Given the description of an element on the screen output the (x, y) to click on. 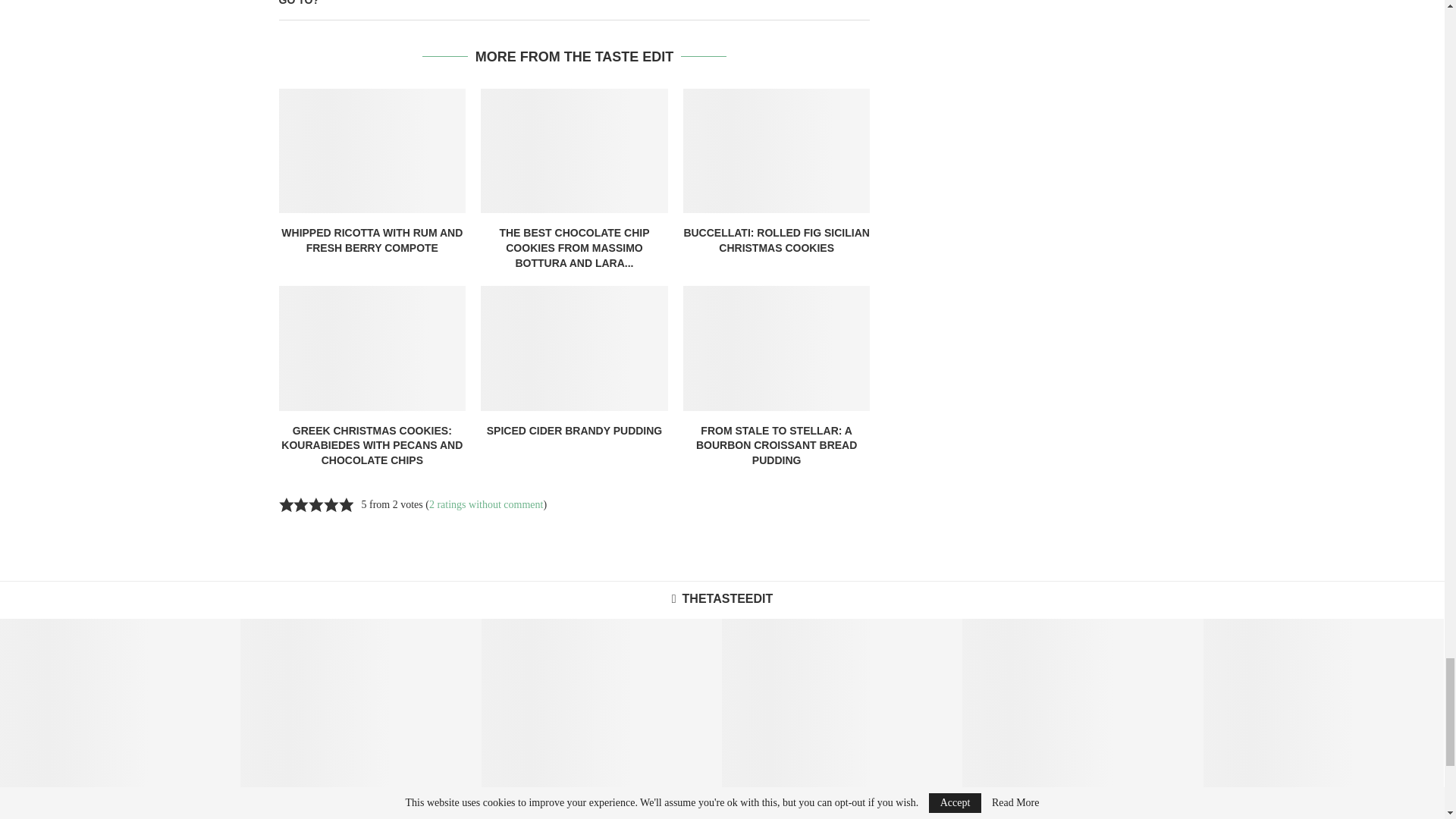
Whipped Ricotta with Rum and Fresh Berry Compote (372, 150)
From Stale to Stellar: A Bourbon Croissant Bread Pudding (776, 347)
Buccellati: Rolled Fig Sicilian Christmas Cookies (776, 150)
Spiced Cider Brandy Pudding (574, 347)
